Given the description of an element on the screen output the (x, y) to click on. 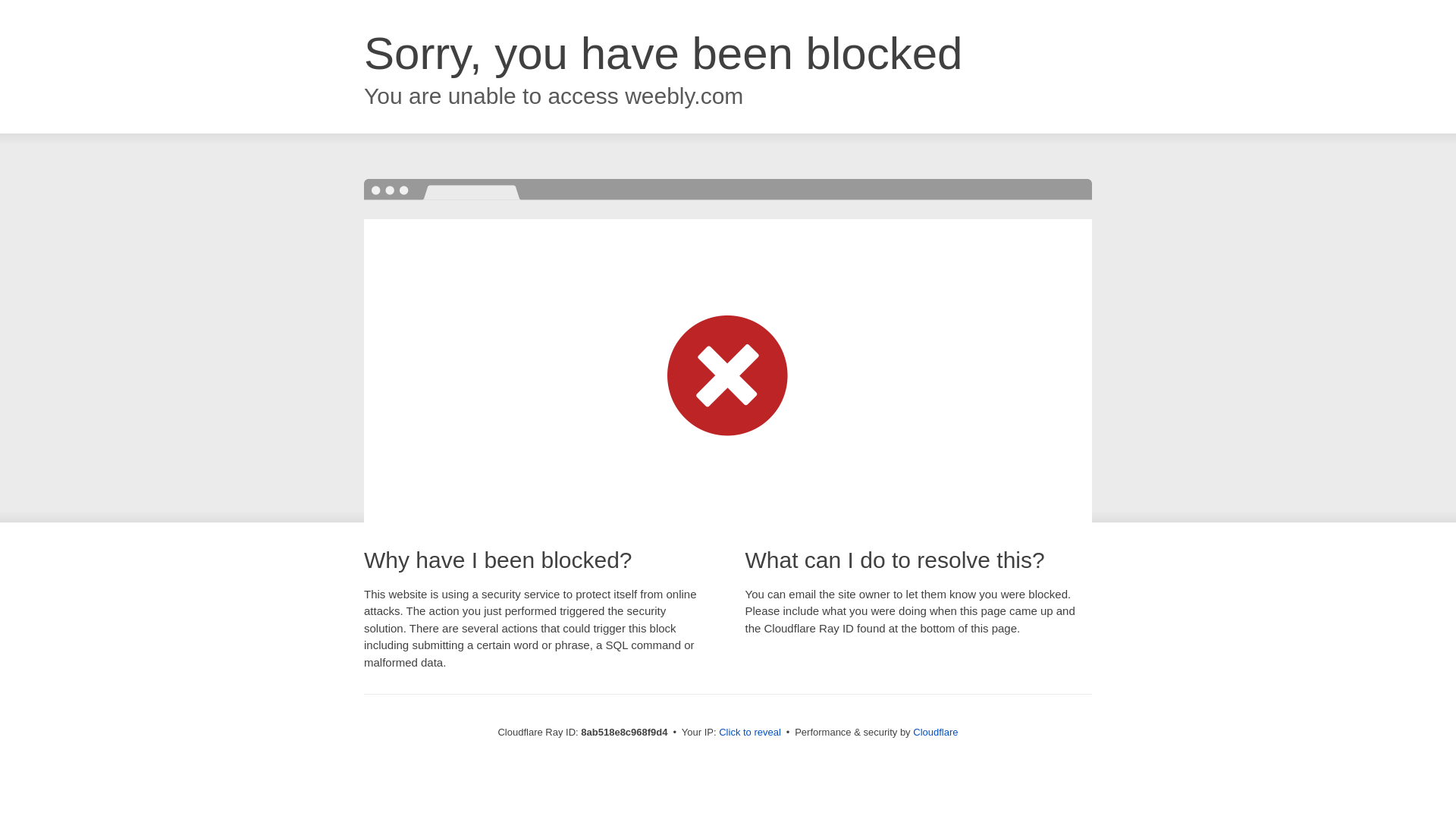
Click to reveal (749, 732)
Cloudflare (935, 731)
